Given the description of an element on the screen output the (x, y) to click on. 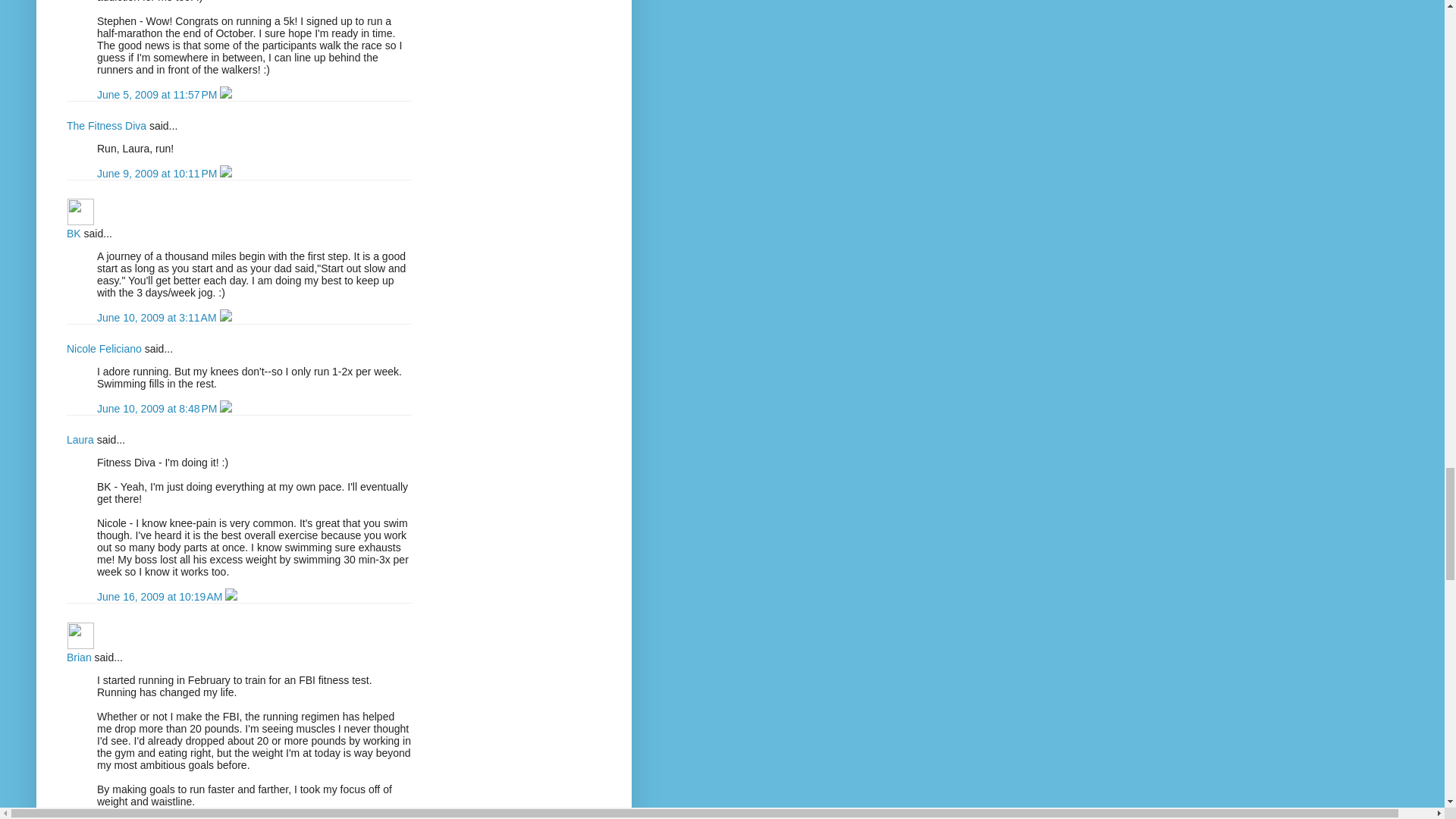
comment permalink (158, 94)
